Given the description of an element on the screen output the (x, y) to click on. 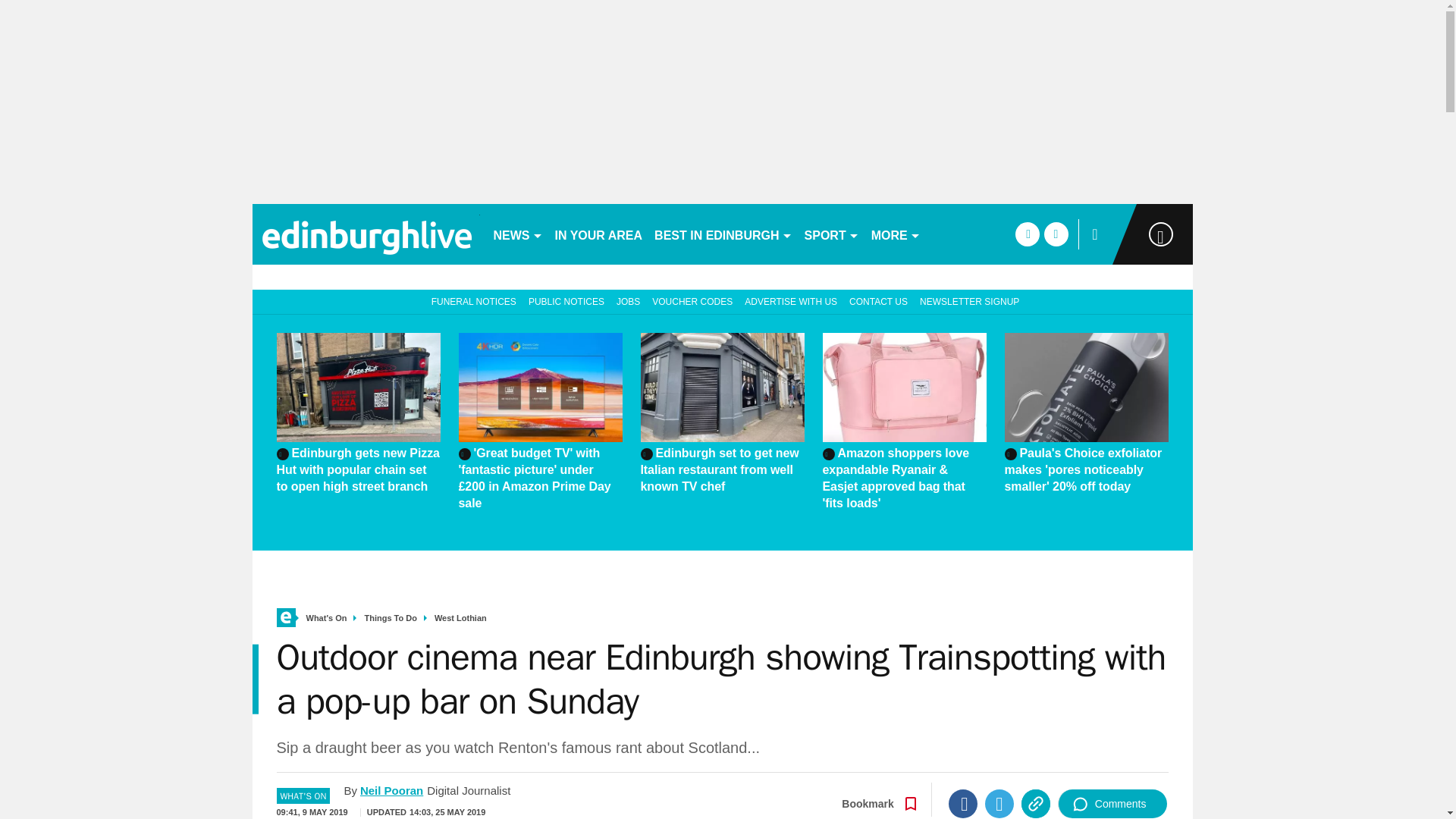
Facebook (962, 803)
MORE (895, 233)
Twitter (999, 803)
twitter (1055, 233)
NEWS (517, 233)
BEST IN EDINBURGH (722, 233)
SPORT (830, 233)
facebook (1026, 233)
IN YOUR AREA (598, 233)
Comments (1112, 803)
edinburghlive (365, 233)
